Given the description of an element on the screen output the (x, y) to click on. 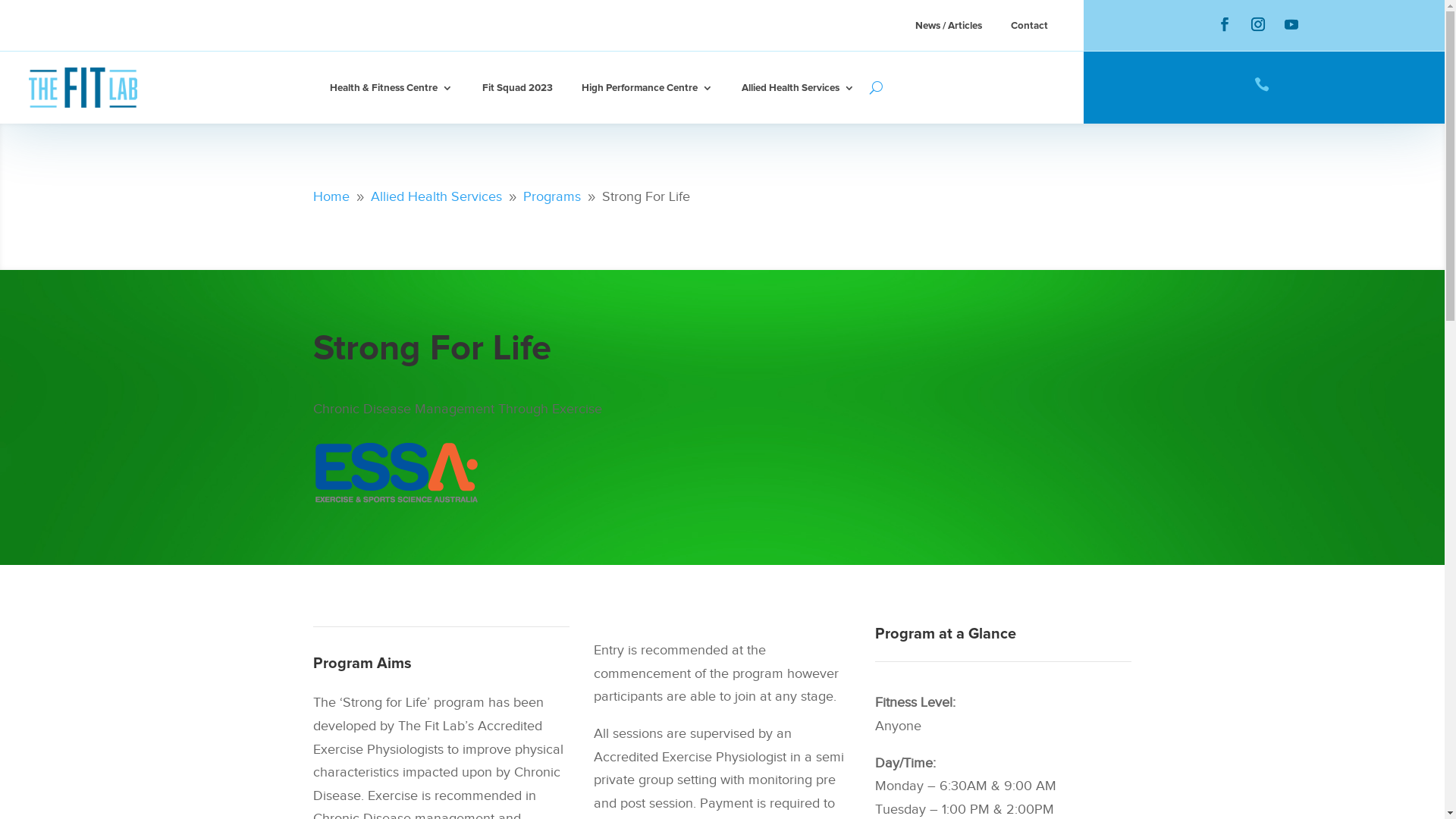
Programs Element type: text (551, 195)
News / Articles Element type: text (948, 28)
Allied Health Services Element type: text (435, 195)
Health & Fitness Centre Element type: text (390, 87)
Fit Squad 2023 Element type: text (517, 87)
Follow on Facebook Element type: hover (1224, 23)
Follow on Instagram Element type: hover (1257, 23)
Follow on Youtube Element type: hover (1291, 23)
Contact Element type: text (1029, 28)
Allied Health Services Element type: text (797, 87)
ESSA - Exercise & Sports Science Australia Element type: hover (395, 472)
High Performance Centre Element type: text (646, 87)
Home Element type: text (330, 195)
